Given the description of an element on the screen output the (x, y) to click on. 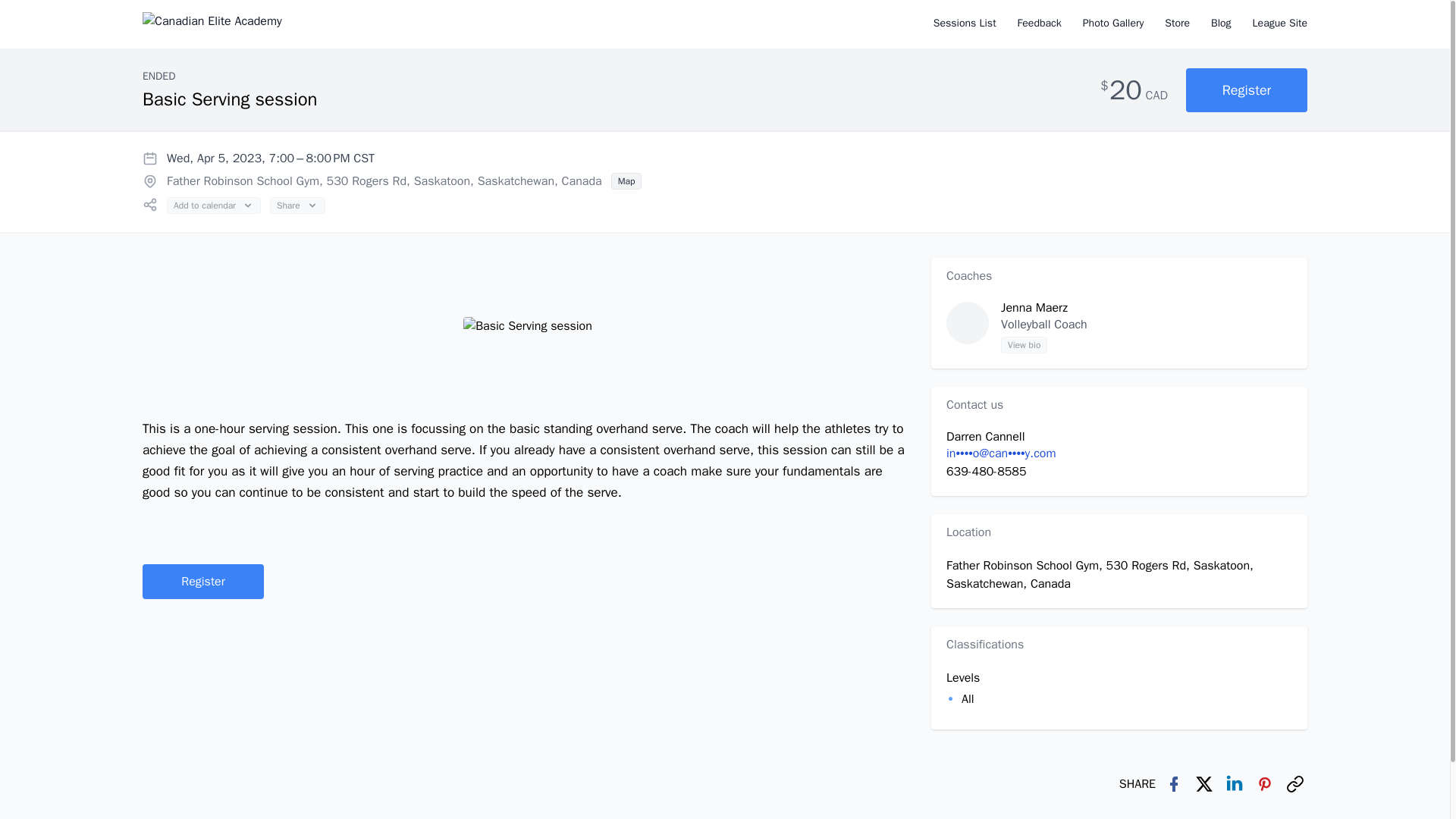
Store (1176, 23)
Map (626, 180)
Facebook (1173, 784)
Register (1246, 89)
Twitter (1203, 784)
View bio (1023, 344)
League Site (1279, 23)
Photo Gallery (1113, 23)
Share (296, 205)
Sessions List (964, 23)
Register (202, 581)
Add to calendar (213, 205)
Pinterest (1264, 784)
Feedback (1039, 23)
Blog (1221, 23)
